Given the description of an element on the screen output the (x, y) to click on. 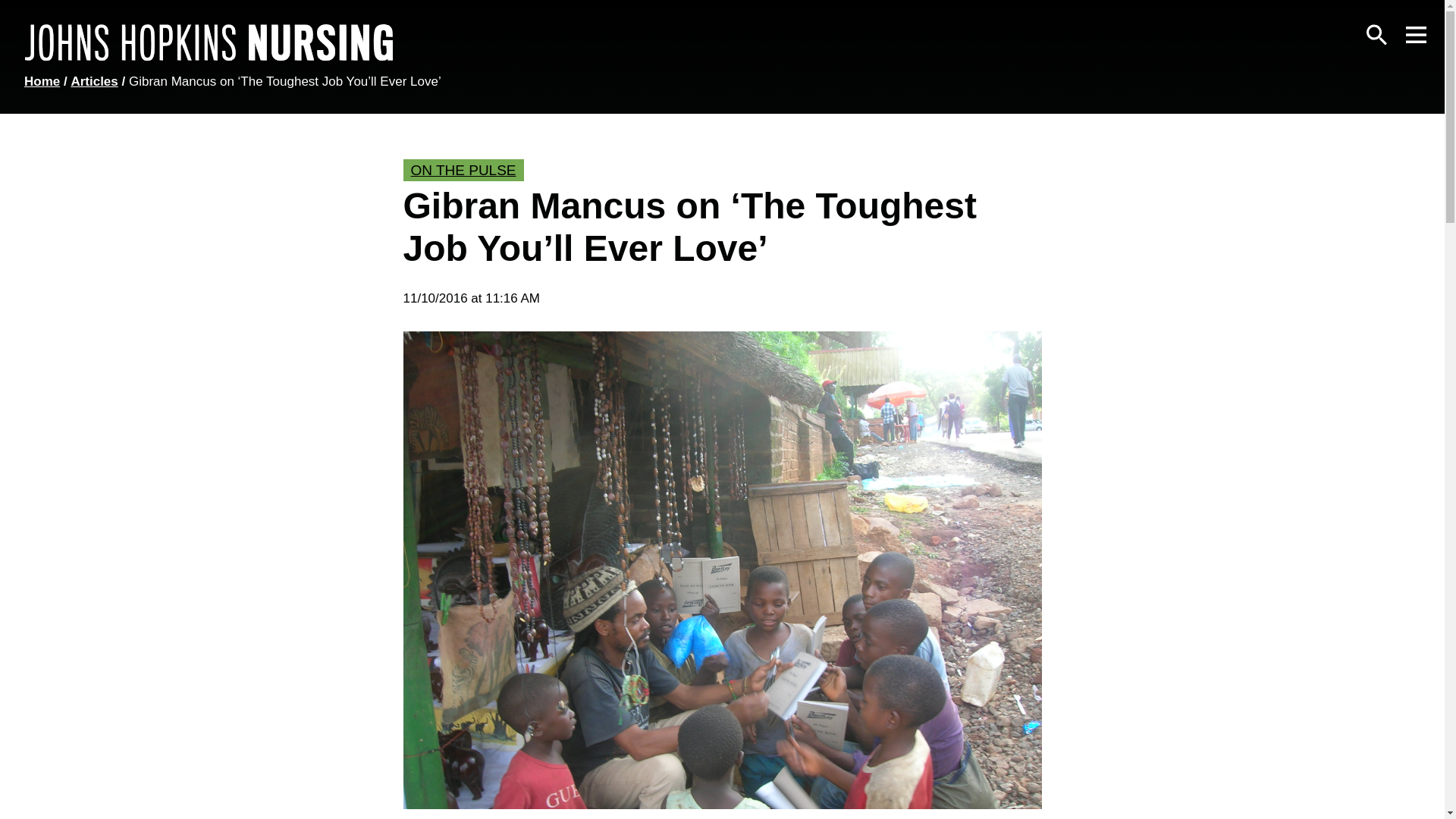
Home (41, 81)
Articles (93, 81)
ON THE PULSE (463, 169)
